Given the description of an element on the screen output the (x, y) to click on. 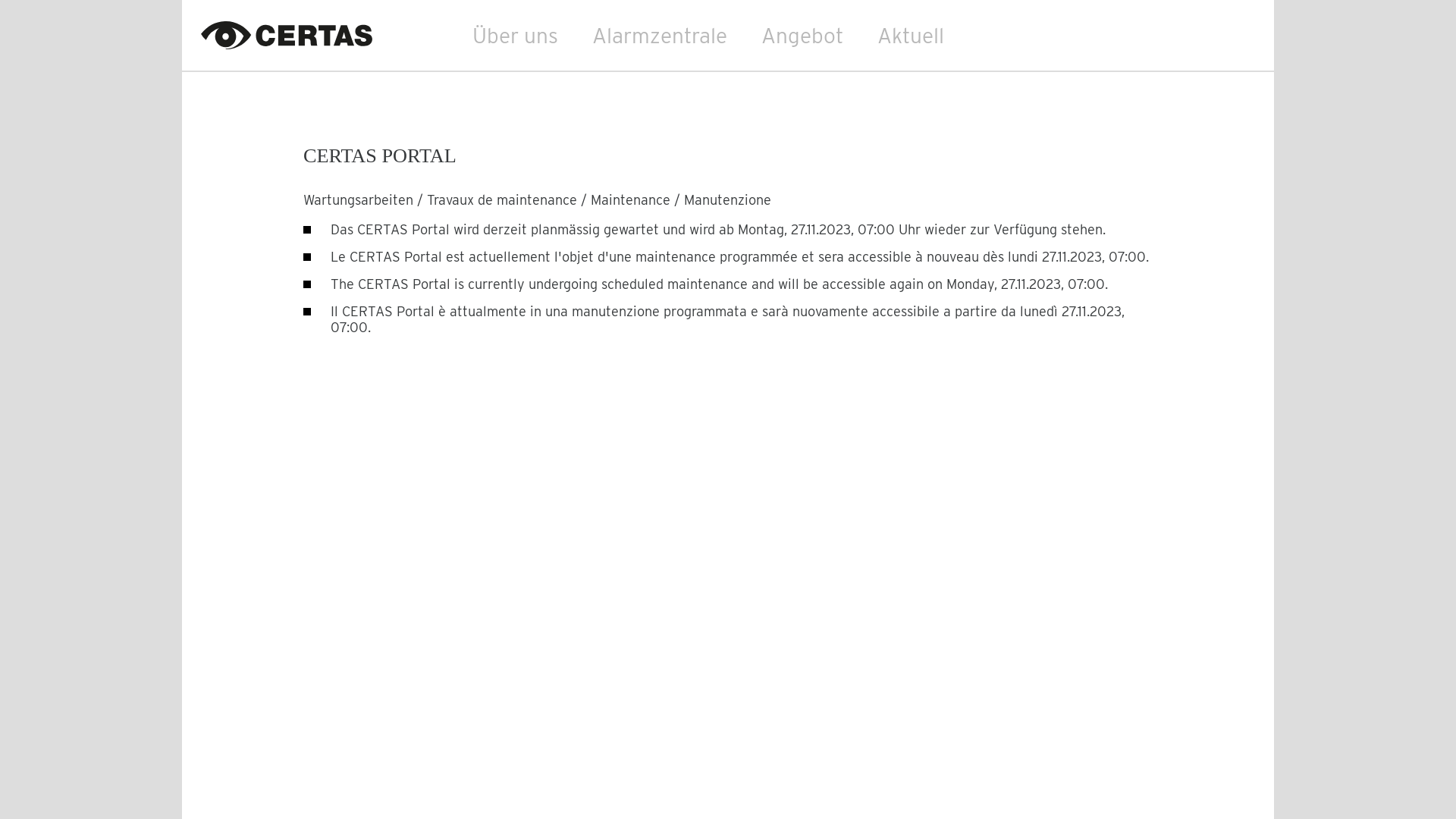
Aktuell Element type: text (910, 35)
Angebot Element type: text (802, 35)
Alarmzentrale Element type: text (659, 35)
